Given the description of an element on the screen output the (x, y) to click on. 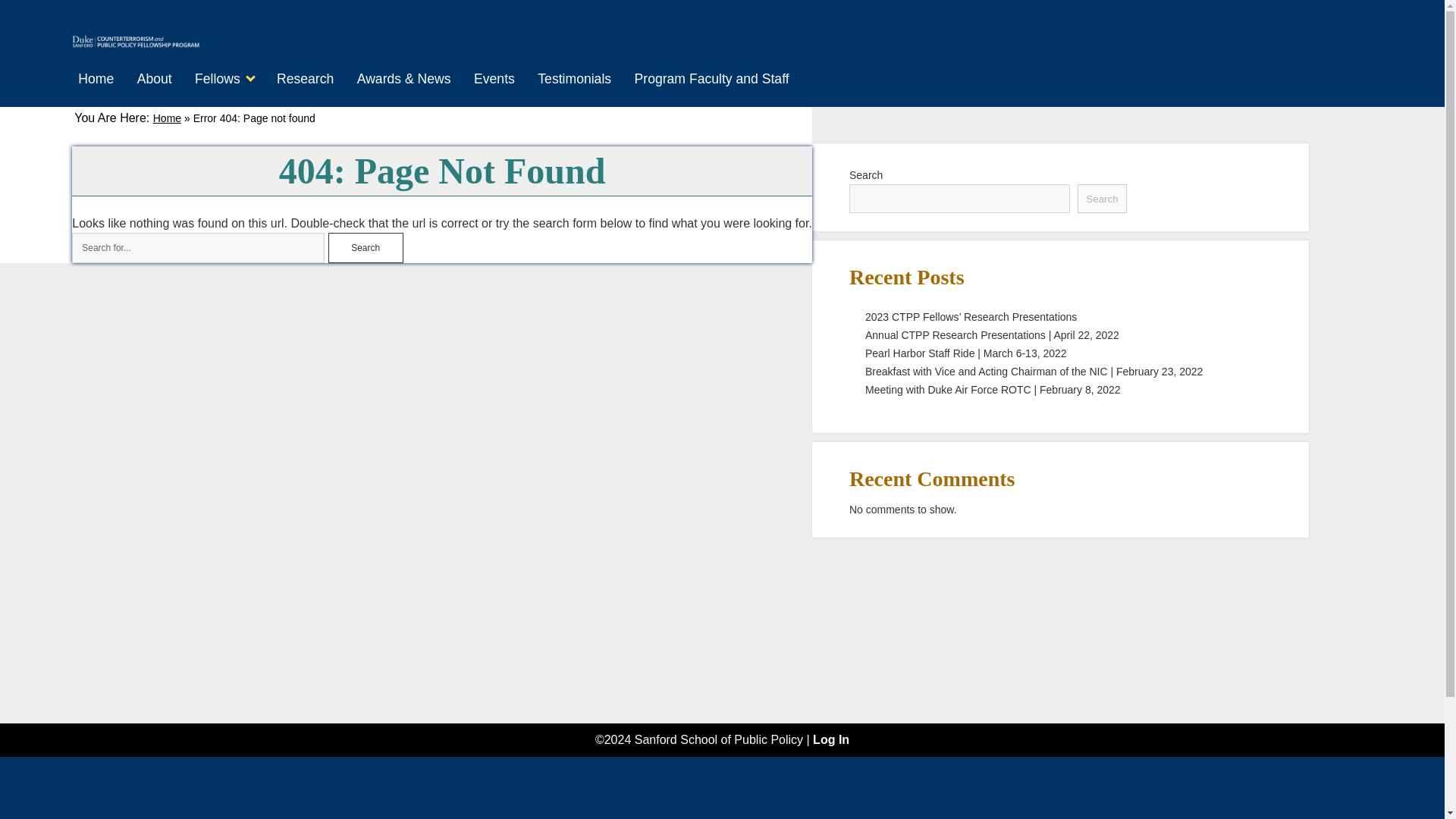
Log In (830, 739)
Search for: (197, 247)
About (154, 79)
Search (366, 247)
Counterterrorism and Public Policy Fellowship Program (135, 41)
Home (95, 79)
Program Faculty and Staff (711, 79)
Testimonials (574, 79)
Search (366, 247)
Search (1101, 198)
